Given the description of an element on the screen output the (x, y) to click on. 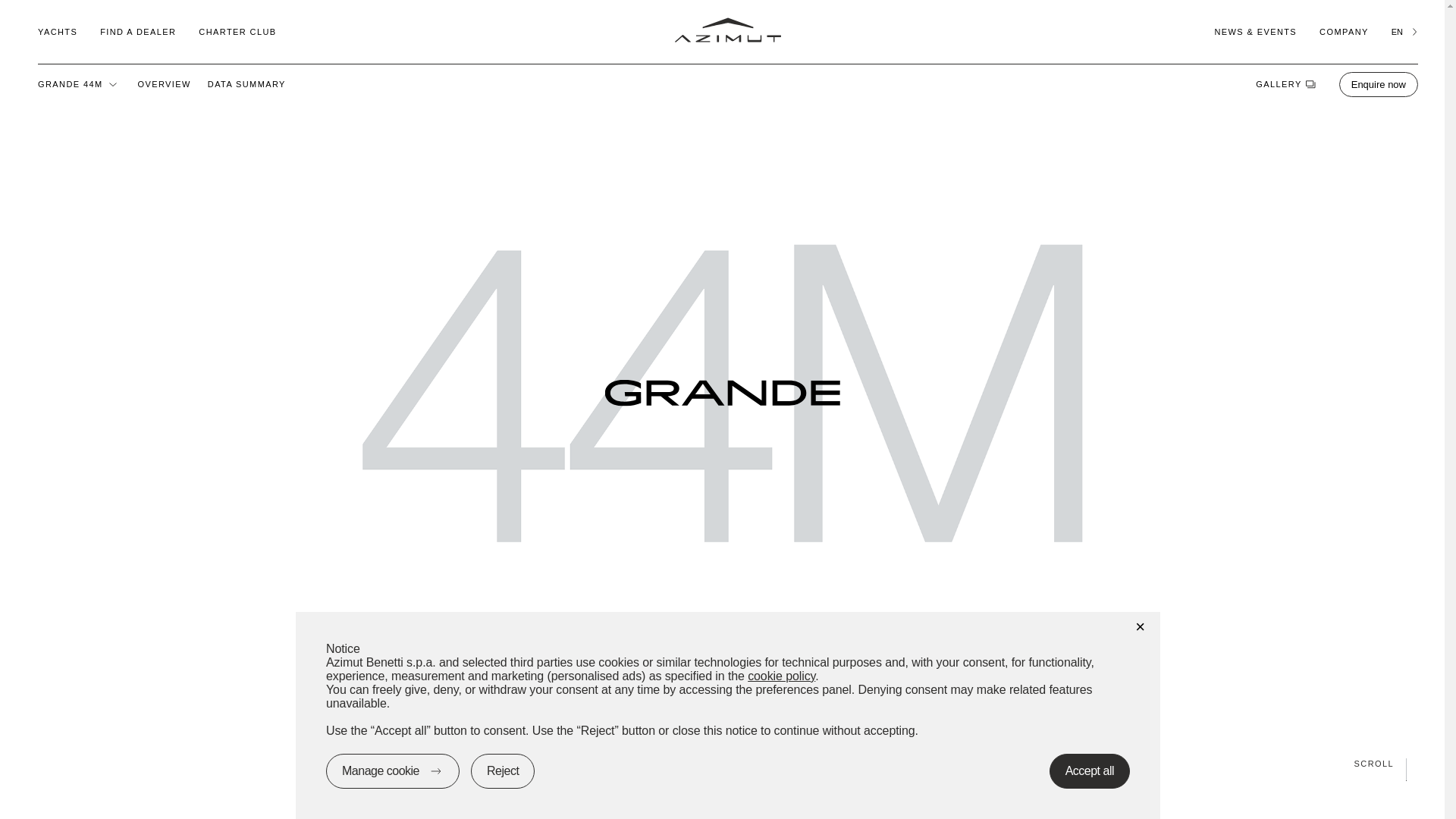
FIND A DEALER (138, 31)
SCROLL (722, 763)
CHARTER CLUB (237, 31)
YACHTS (57, 31)
Enquire now (1378, 83)
DATA SUMMARY (246, 83)
EN (1404, 31)
OVERVIEW (164, 83)
COMPANY (1343, 31)
